Given the description of an element on the screen output the (x, y) to click on. 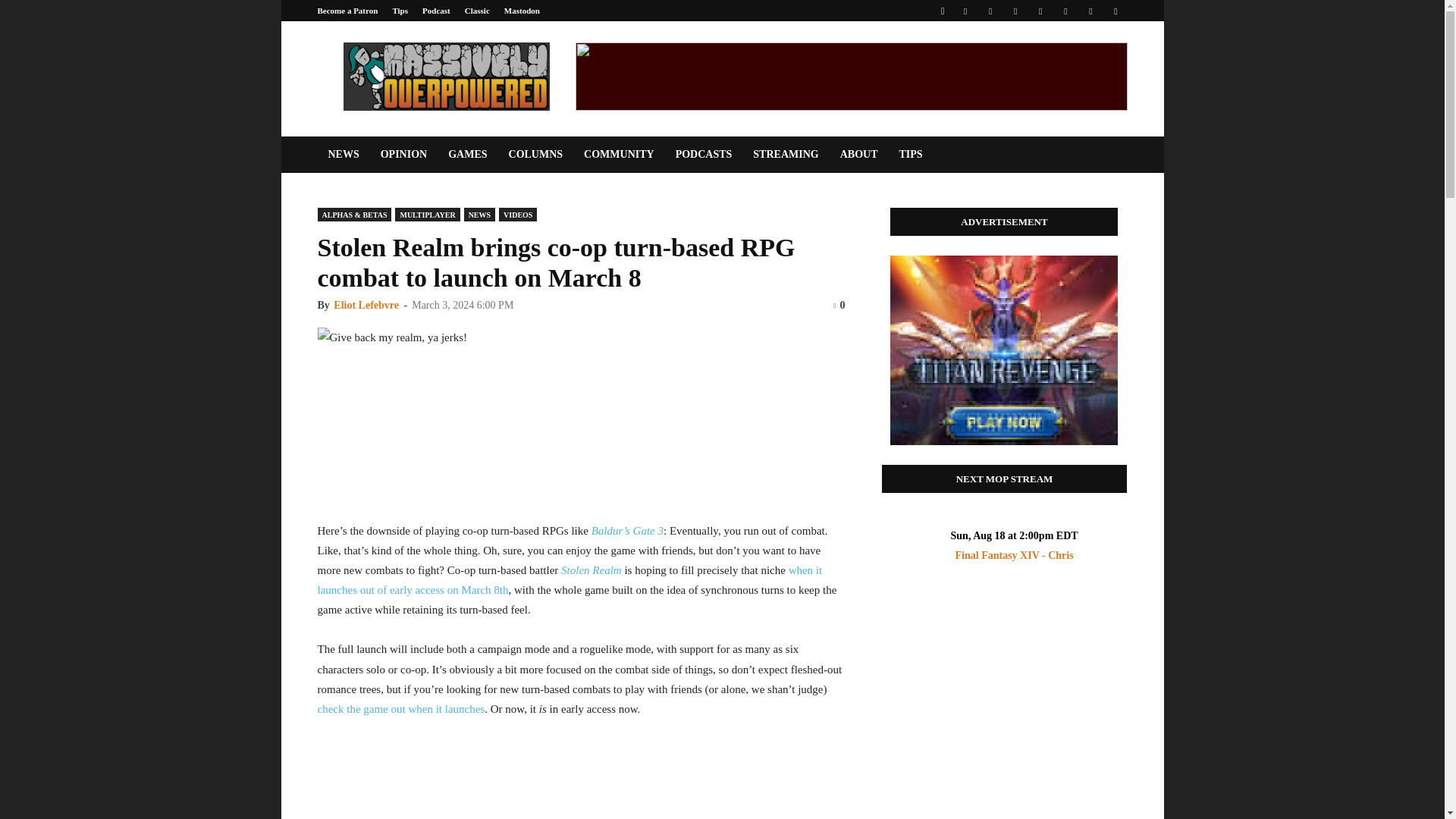
Youtube (1114, 10)
Facebook (964, 10)
Twitch (1065, 10)
RSS (1040, 10)
Twitter (1090, 10)
Patreon (989, 10)
MassivelyOP.com (445, 76)
Paypal (1015, 10)
